Given the description of an element on the screen output the (x, y) to click on. 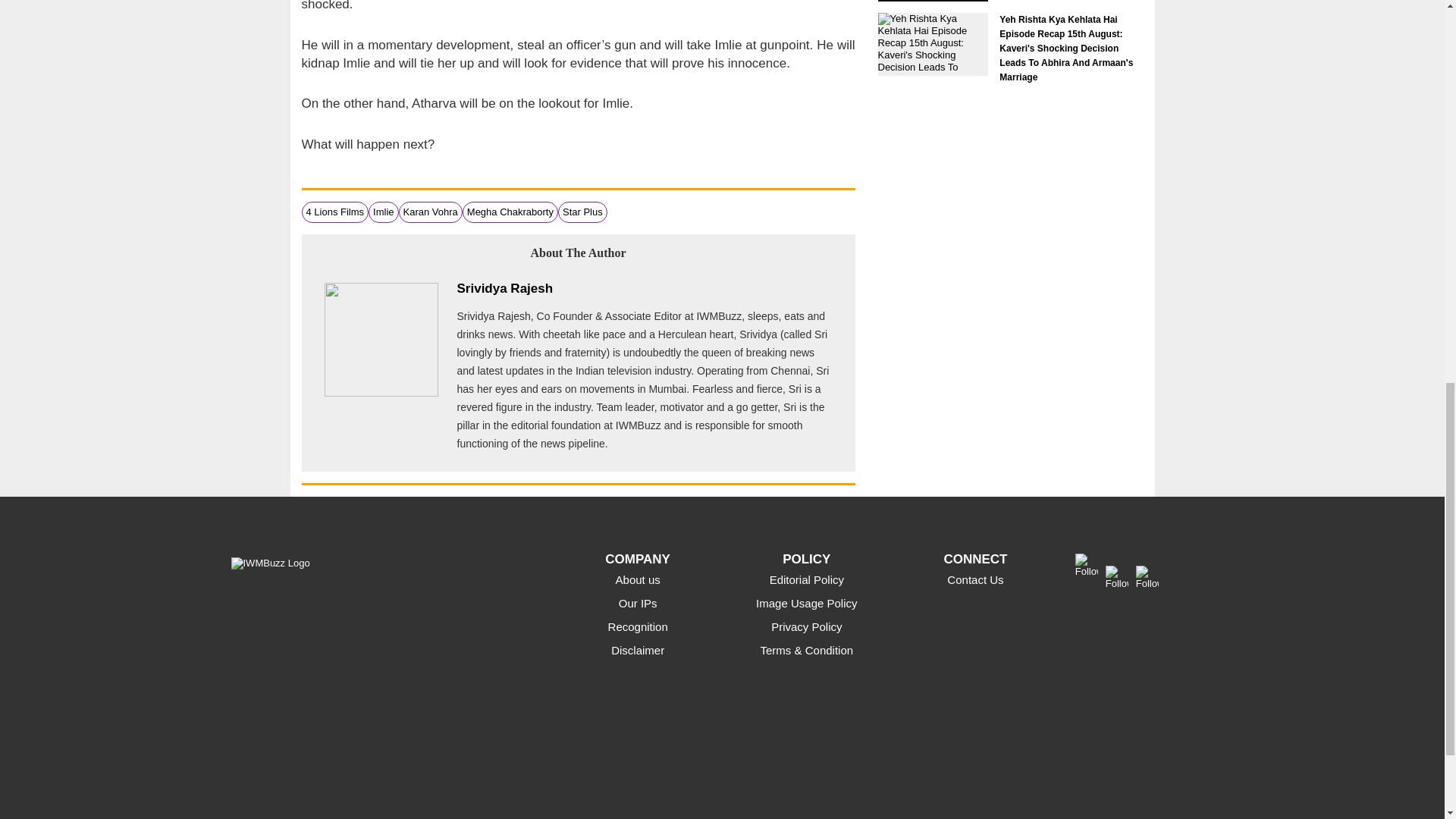
4 Lions Films (335, 211)
Srividya Rajesh (505, 288)
Imlie (382, 211)
Megha Chakraborty (510, 211)
Karan Vohra (430, 211)
Star Plus (582, 211)
